Given the description of an element on the screen output the (x, y) to click on. 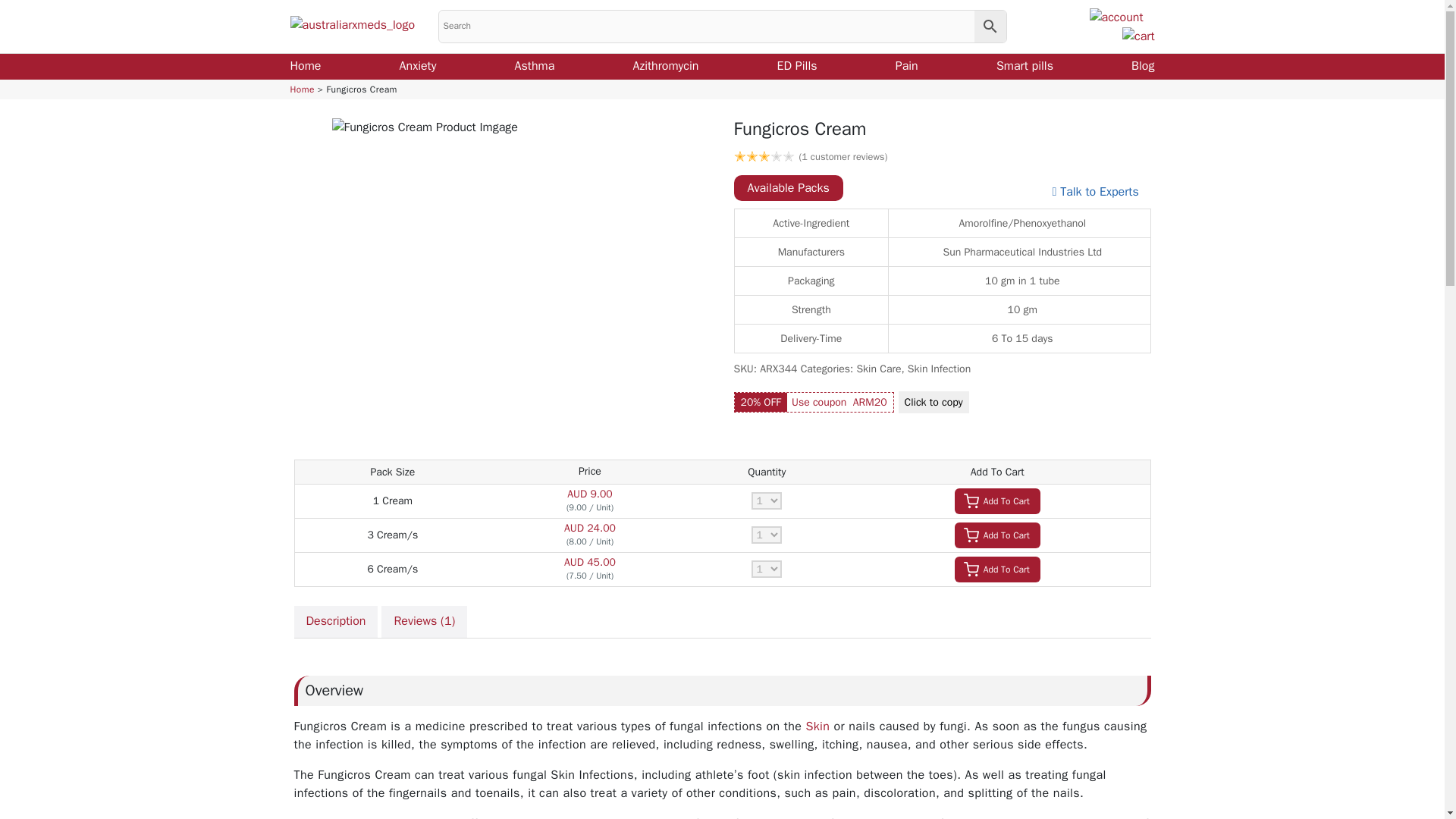
Fungicros Cream Product Imgage (501, 288)
Add To Cart (998, 534)
Azithromycin (664, 65)
Blog (1142, 65)
Add to cart (998, 534)
Home (301, 89)
My Account (1115, 16)
Smart pills (1023, 65)
Anxiety (417, 65)
Asthma (534, 65)
Add To Cart (998, 501)
Add to cart (998, 569)
Description (336, 622)
Qty (766, 569)
Cart (1138, 35)
